Given the description of an element on the screen output the (x, y) to click on. 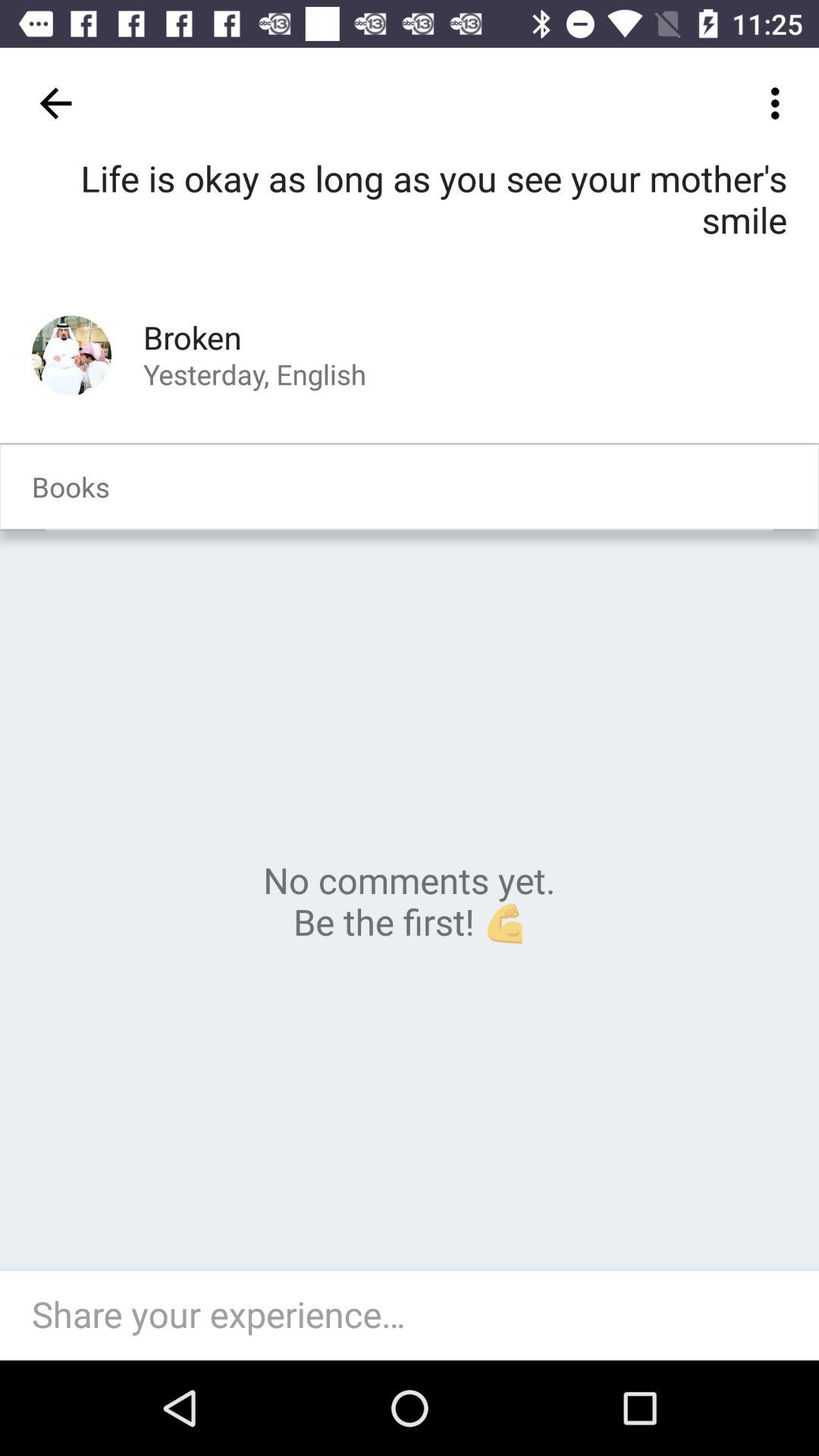
share your experience (417, 1315)
